Given the description of an element on the screen output the (x, y) to click on. 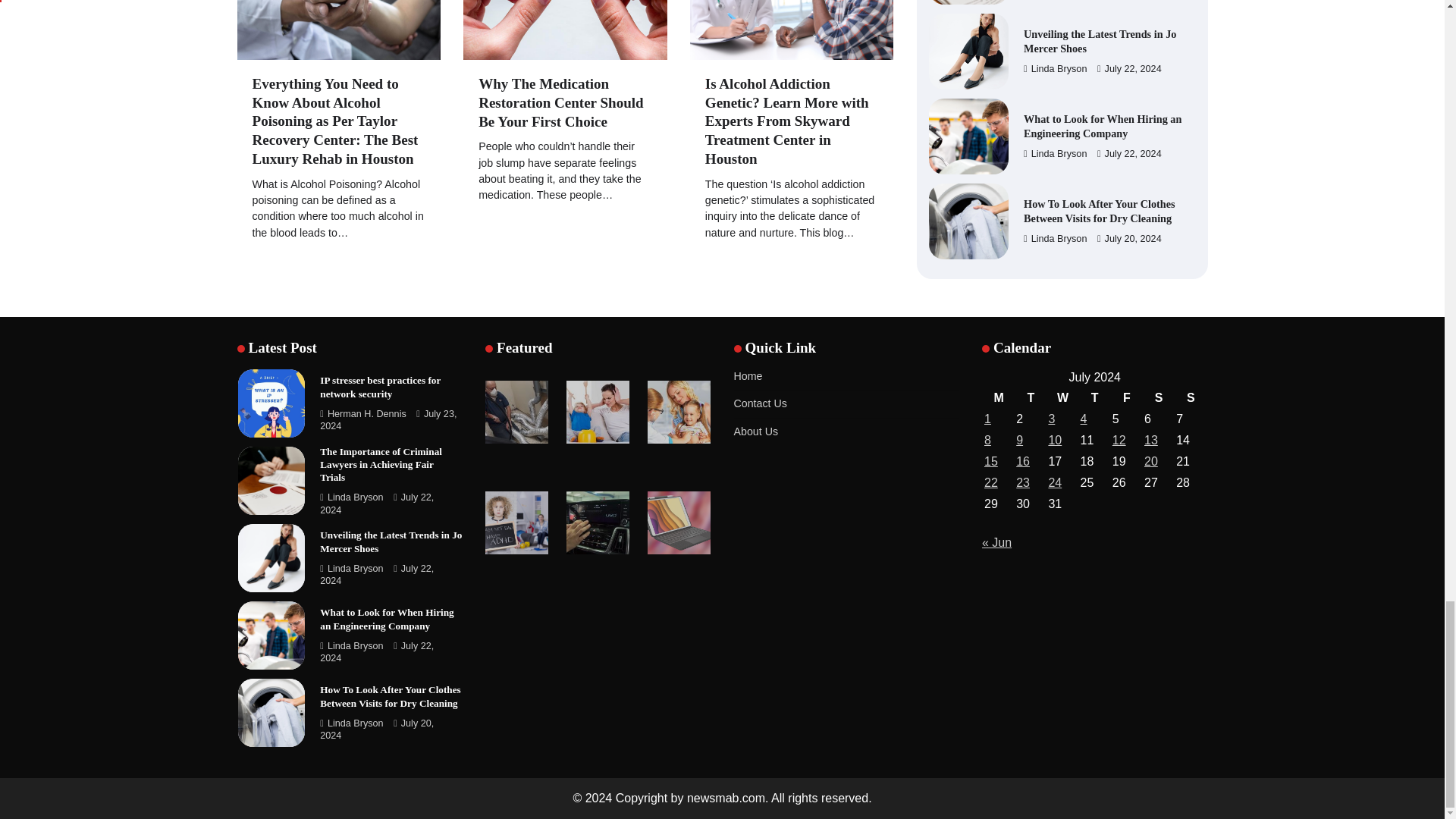
Sunday (1189, 397)
Wednesday (1061, 397)
Thursday (1094, 397)
Friday (1126, 397)
Monday (998, 397)
Saturday (1157, 397)
Tuesday (1029, 397)
